Given the description of an element on the screen output the (x, y) to click on. 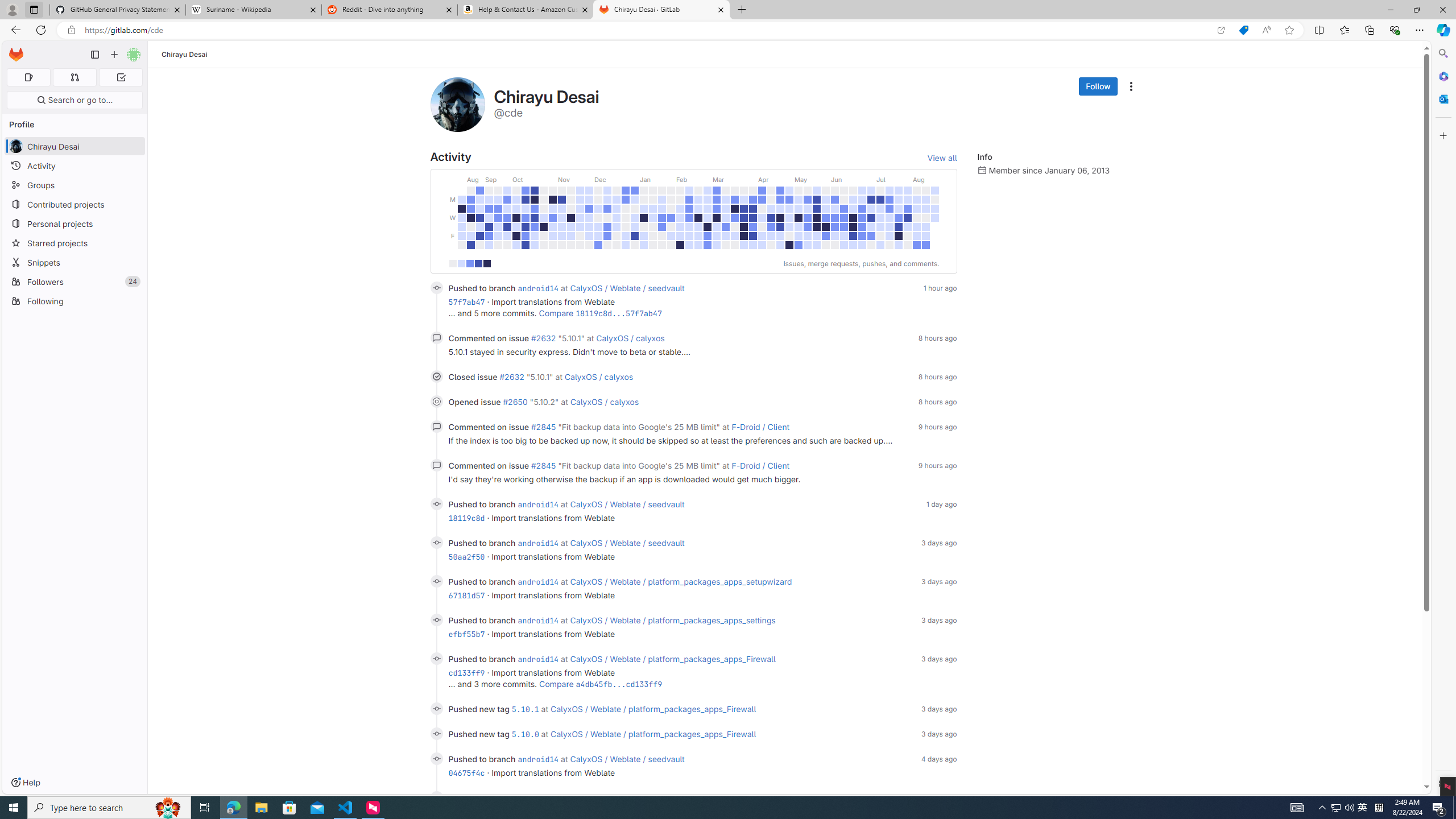
5.10.1 (524, 709)
CalyxOS / Weblate / platform_packages_apps_settings (672, 619)
